Given the description of an element on the screen output the (x, y) to click on. 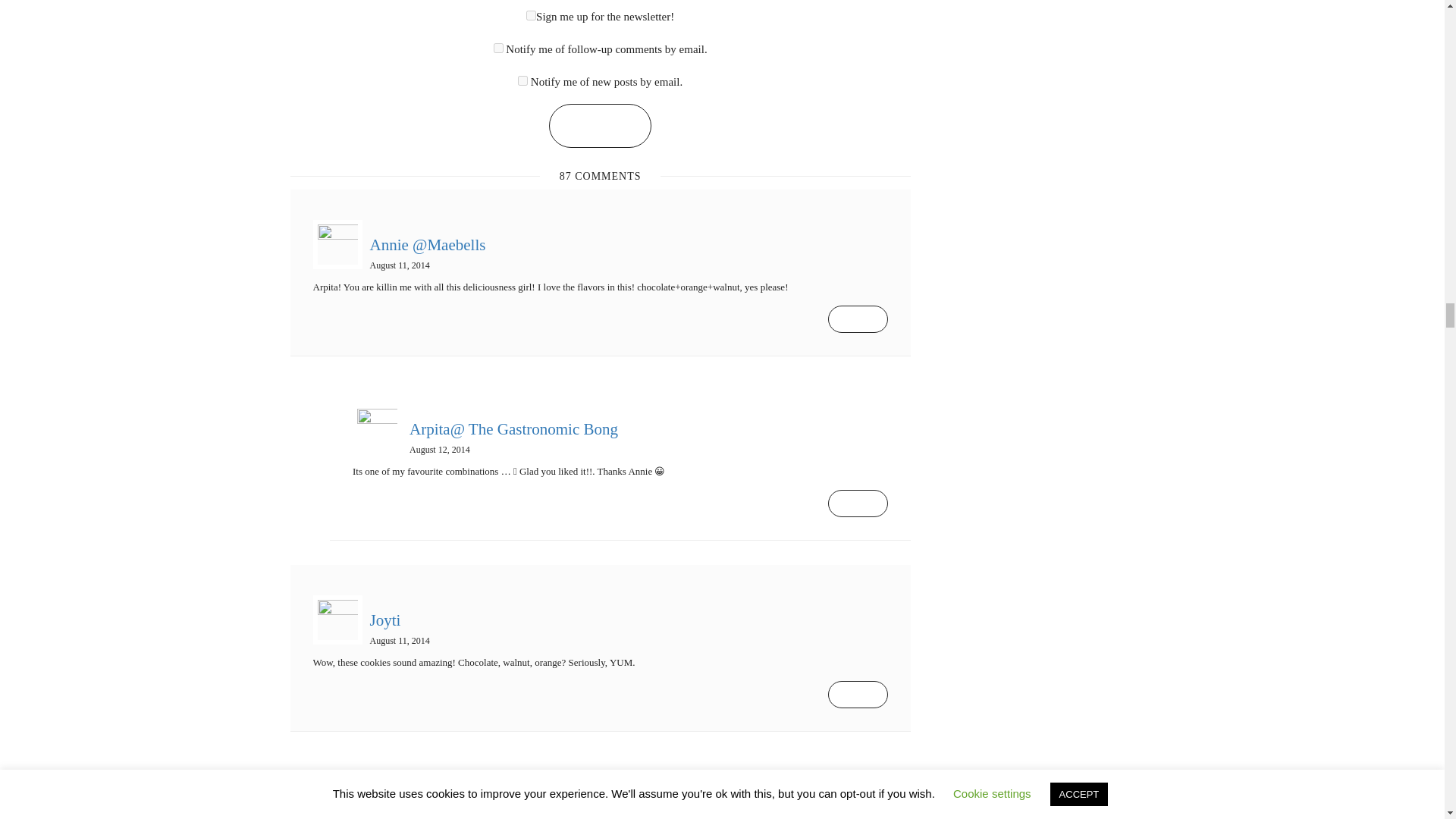
Post comment (599, 126)
1 (530, 15)
subscribe (522, 80)
subscribe (498, 48)
